Given the description of an element on the screen output the (x, y) to click on. 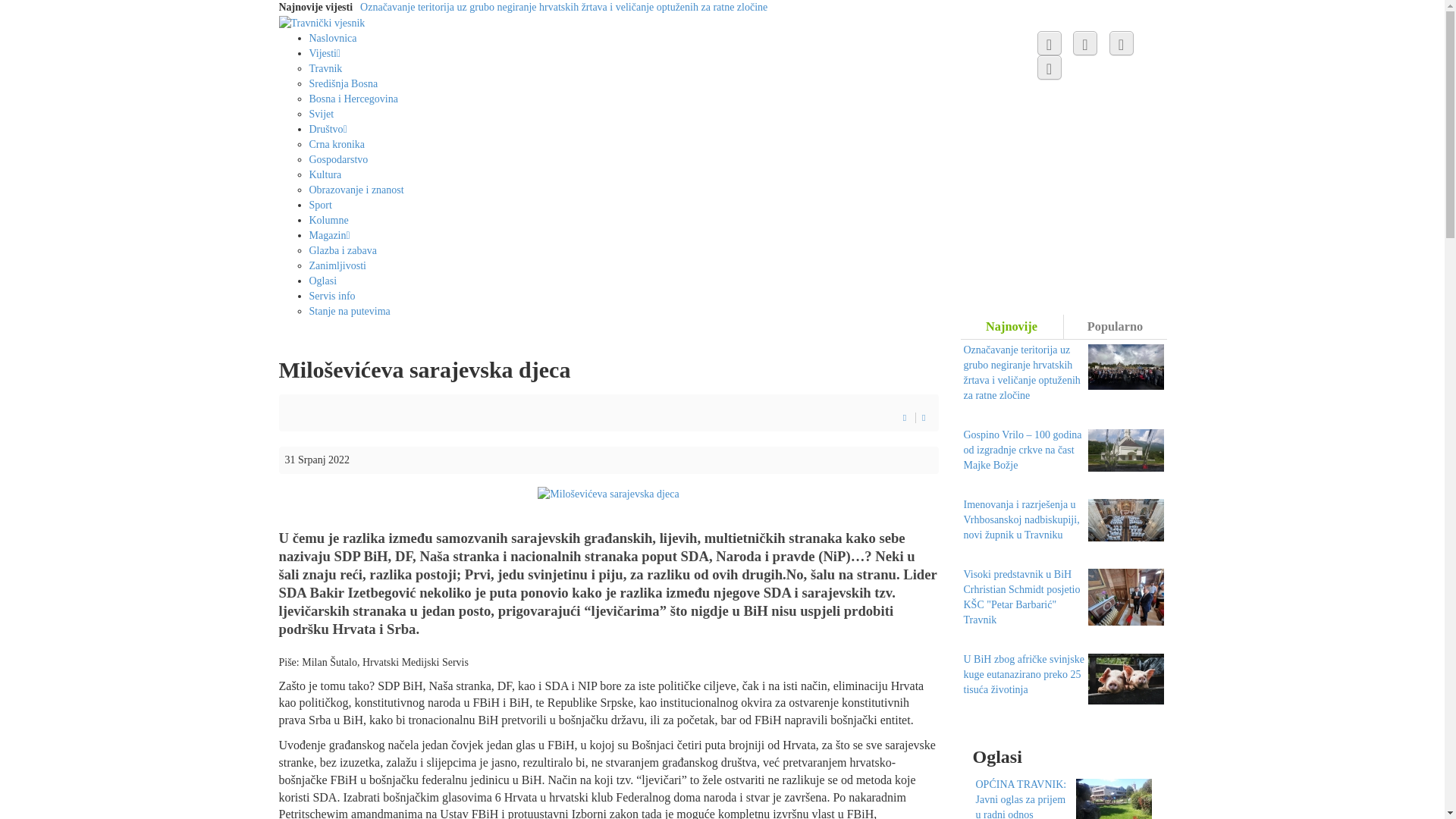
Bosna i Hercegovina Element type: text (353, 98)
Svijet Element type: text (321, 113)
Naslovnica Element type: text (333, 37)
Crna kronika Element type: text (336, 144)
Sport Element type: text (320, 204)
Facebook Element type: hover (1049, 43)
Oglasi Element type: text (323, 280)
Zanimljivosti Element type: text (337, 265)
Gospodarstvo Element type: text (338, 159)
Servis info Element type: text (332, 295)
Kultura Element type: text (325, 174)
Twitter Element type: hover (1085, 43)
Otvori cijelu sliku! Element type: hover (607, 492)
Google-Plus Element type: hover (1120, 43)
Kolumne Element type: text (328, 219)
Travnik Element type: text (325, 68)
Linkedin Element type: hover (1049, 67)
Glazba i zabava Element type: text (342, 250)
Stanje na putevima Element type: text (349, 310)
Obrazovanje i znanost Element type: text (356, 189)
Vijesti Element type: text (327, 53)
Magazin Element type: text (331, 235)
